Given the description of an element on the screen output the (x, y) to click on. 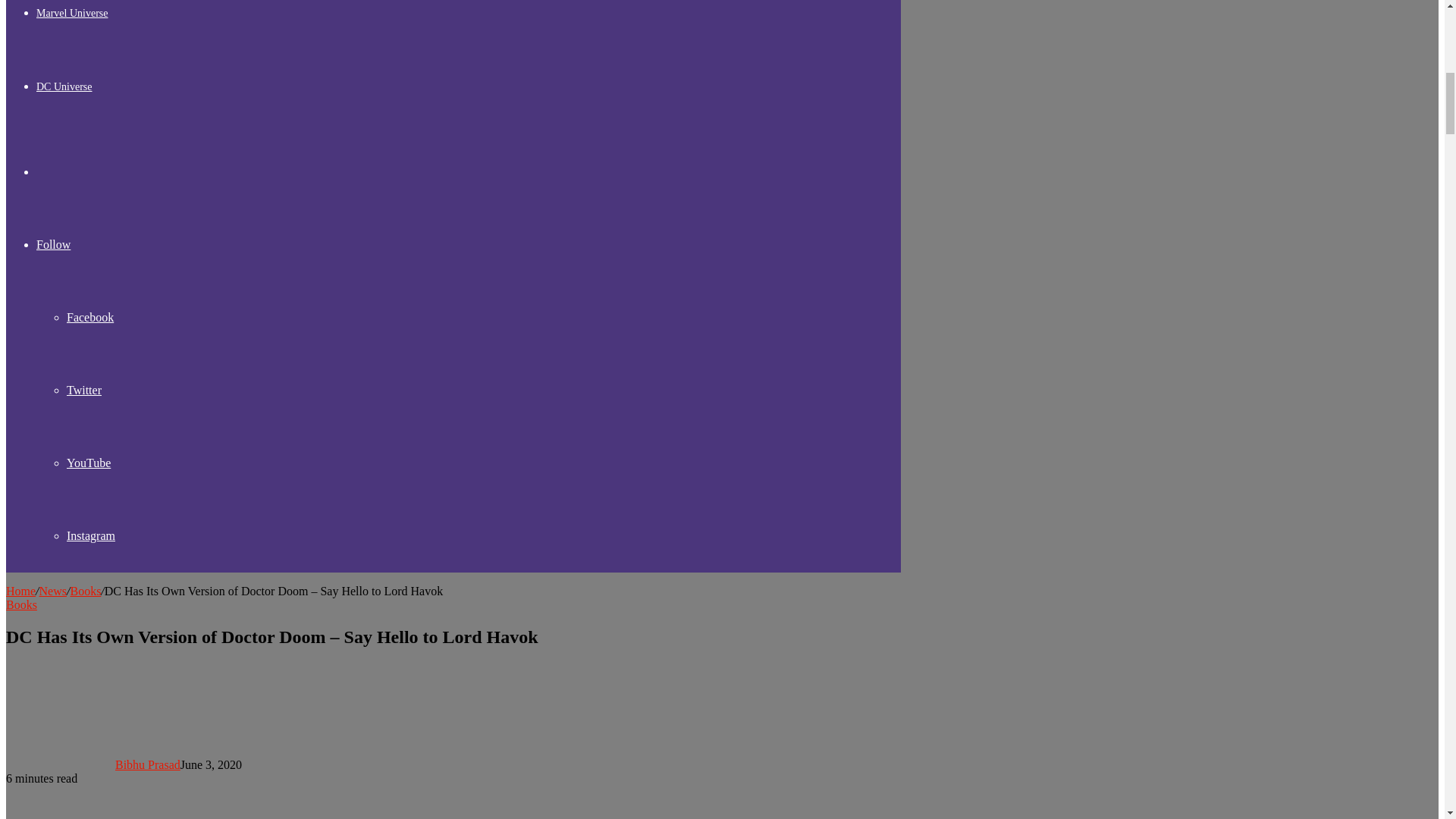
YouTube (88, 462)
Follow (52, 244)
Instagram (90, 535)
Bibhu Prasad (147, 764)
Marvel Universe (71, 12)
News (52, 590)
Books (21, 604)
DC Universe (64, 86)
Books (84, 590)
Twitter (83, 390)
